Given the description of an element on the screen output the (x, y) to click on. 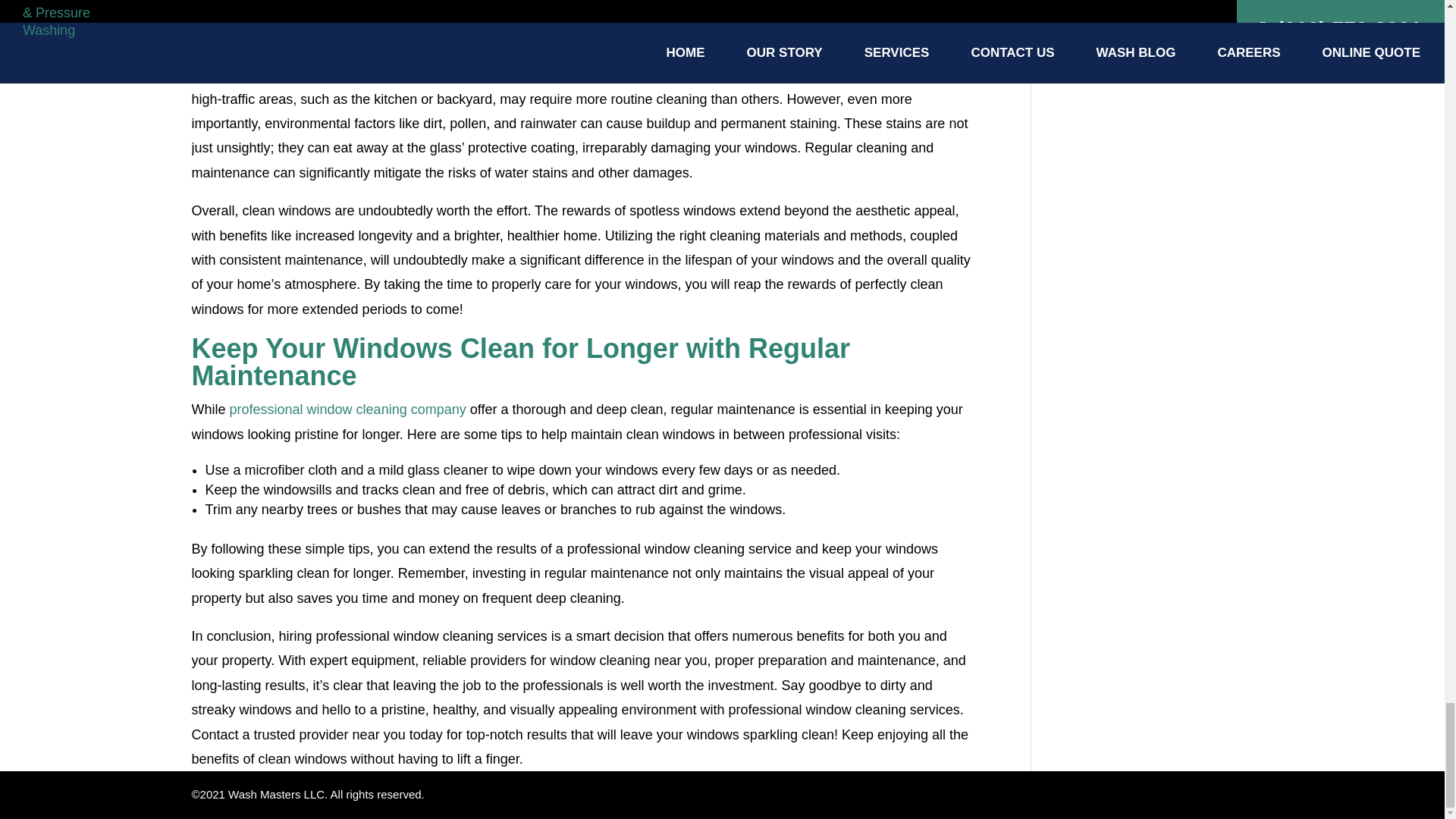
professional window cleaning company (347, 409)
